Given the description of an element on the screen output the (x, y) to click on. 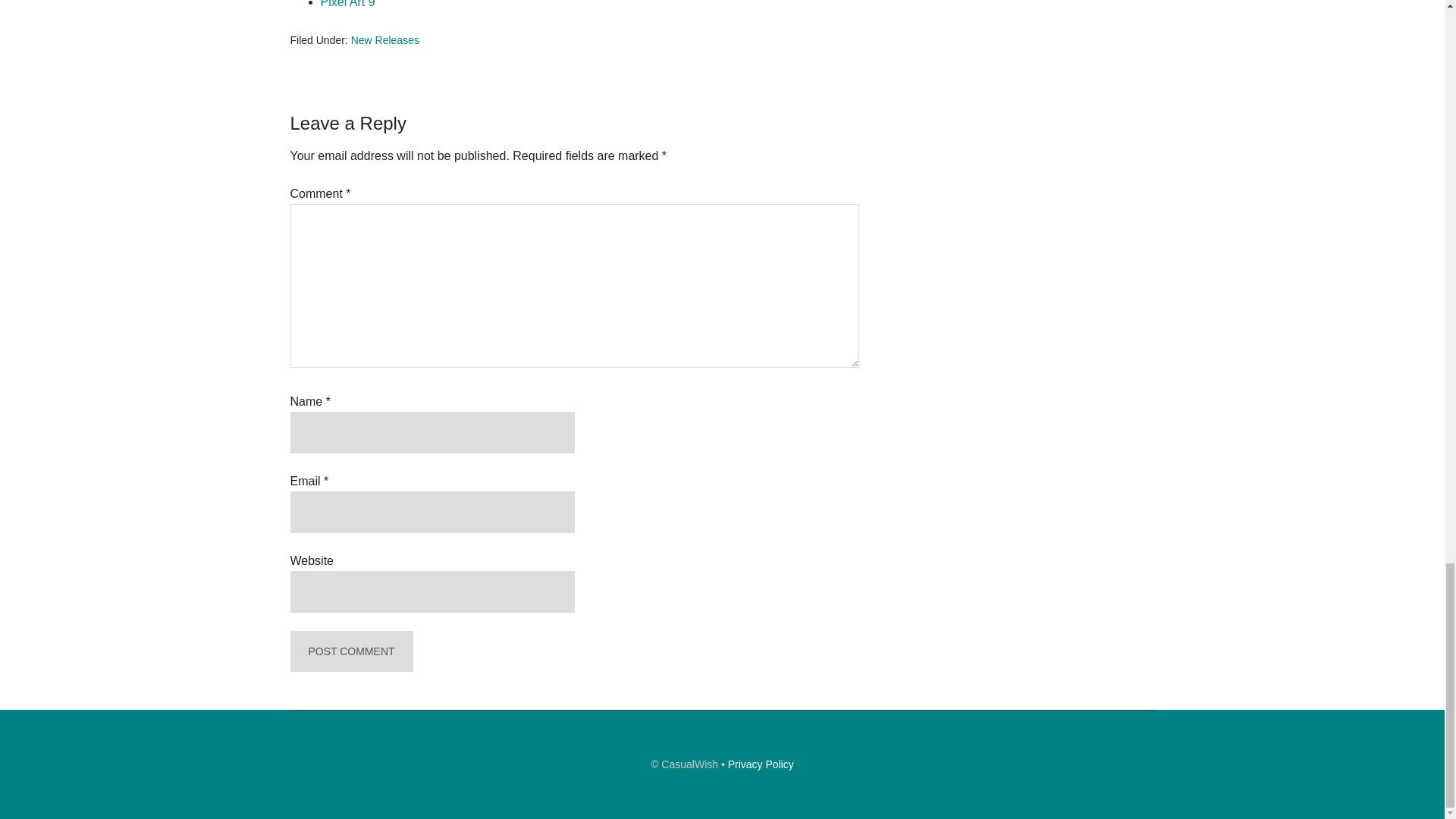
Post Comment (350, 651)
Pixel Art 9 (347, 4)
Pixel Art 9 (347, 4)
New Releases (384, 39)
Post Comment (350, 651)
